Given the description of an element on the screen output the (x, y) to click on. 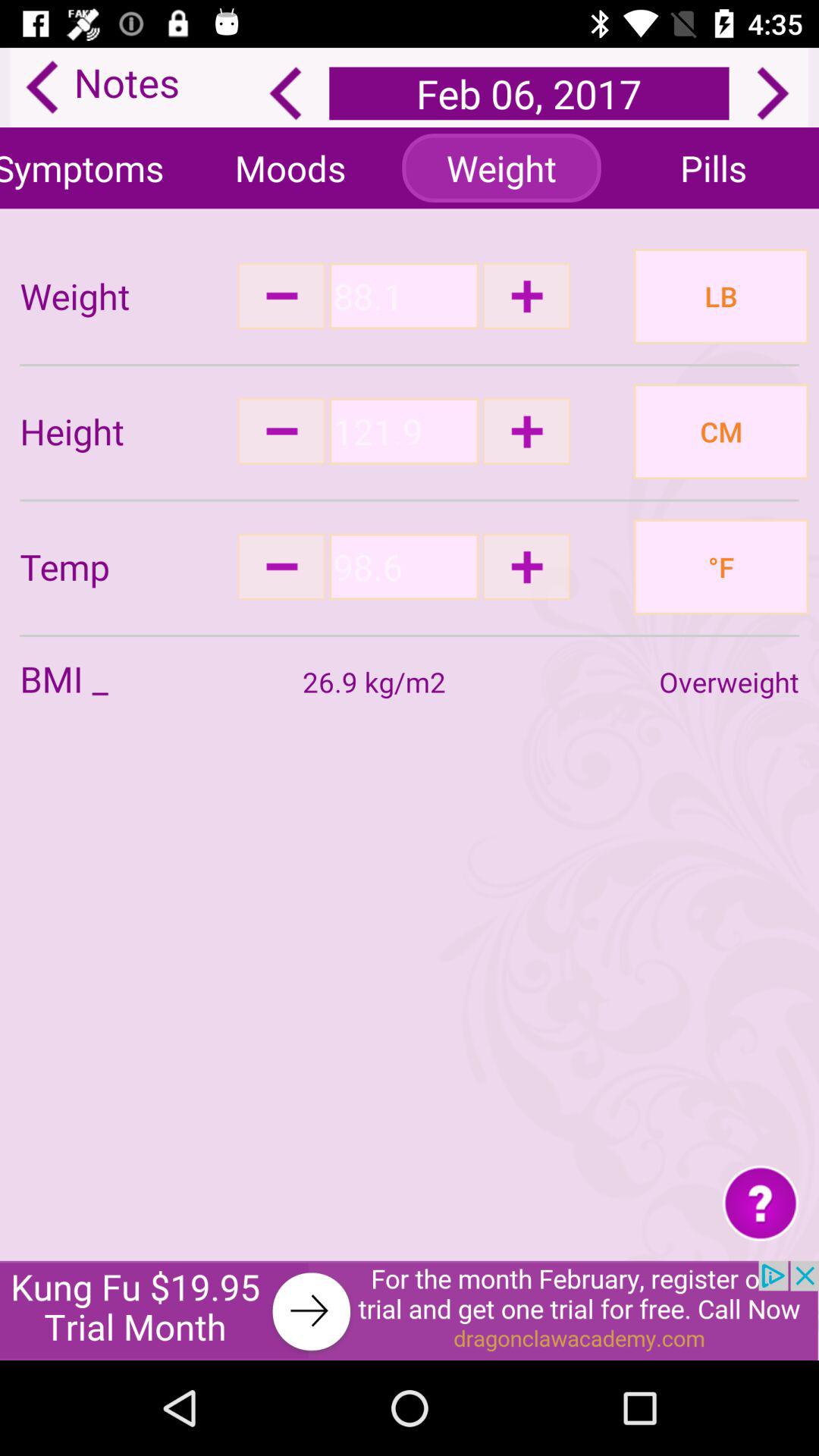
this space is to add numbers in it (403, 295)
